Given the description of an element on the screen output the (x, y) to click on. 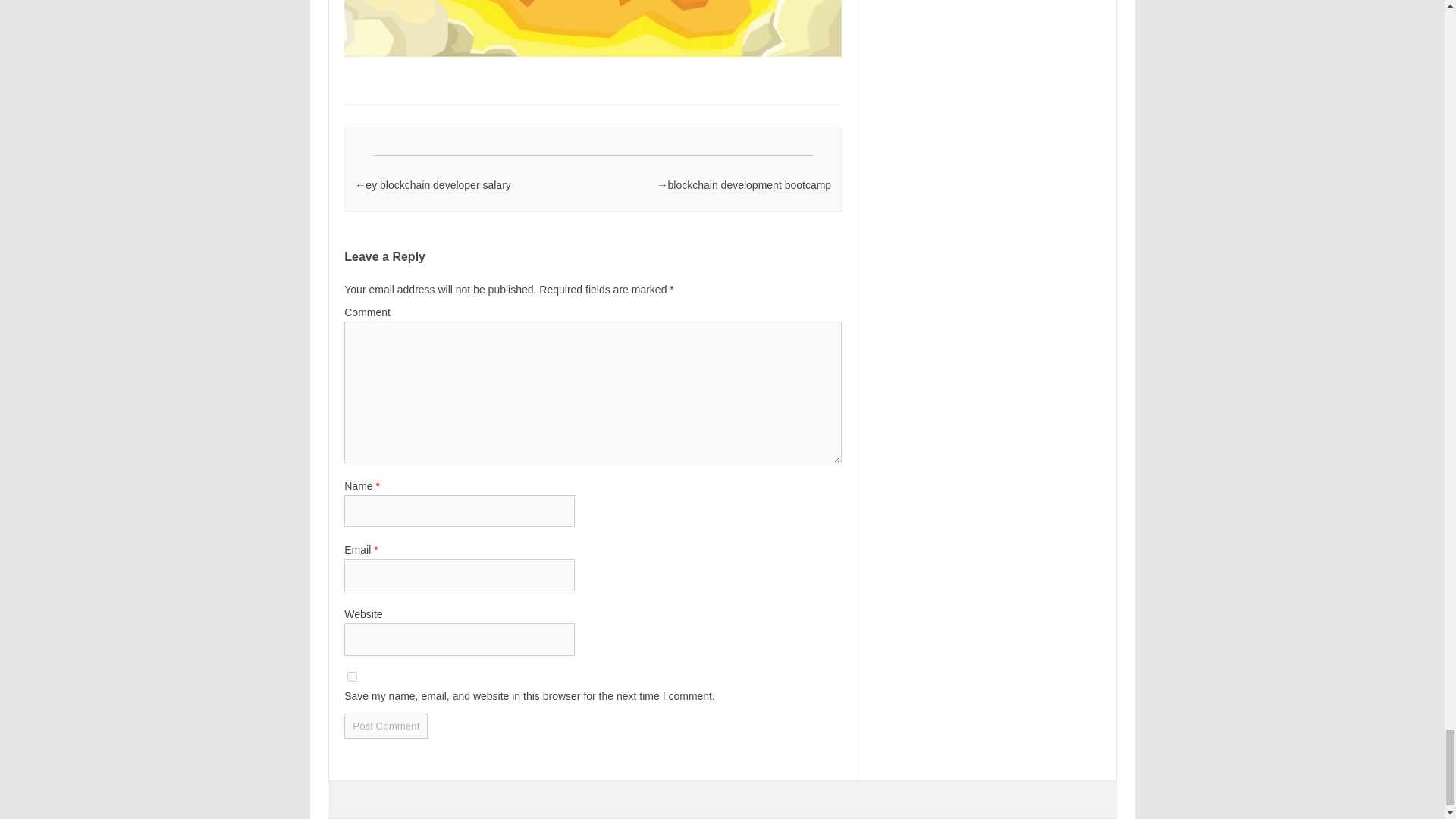
ey blockchain developer salary (438, 184)
yes (351, 676)
Post Comment (385, 725)
Post Comment (385, 725)
